Given the description of an element on the screen output the (x, y) to click on. 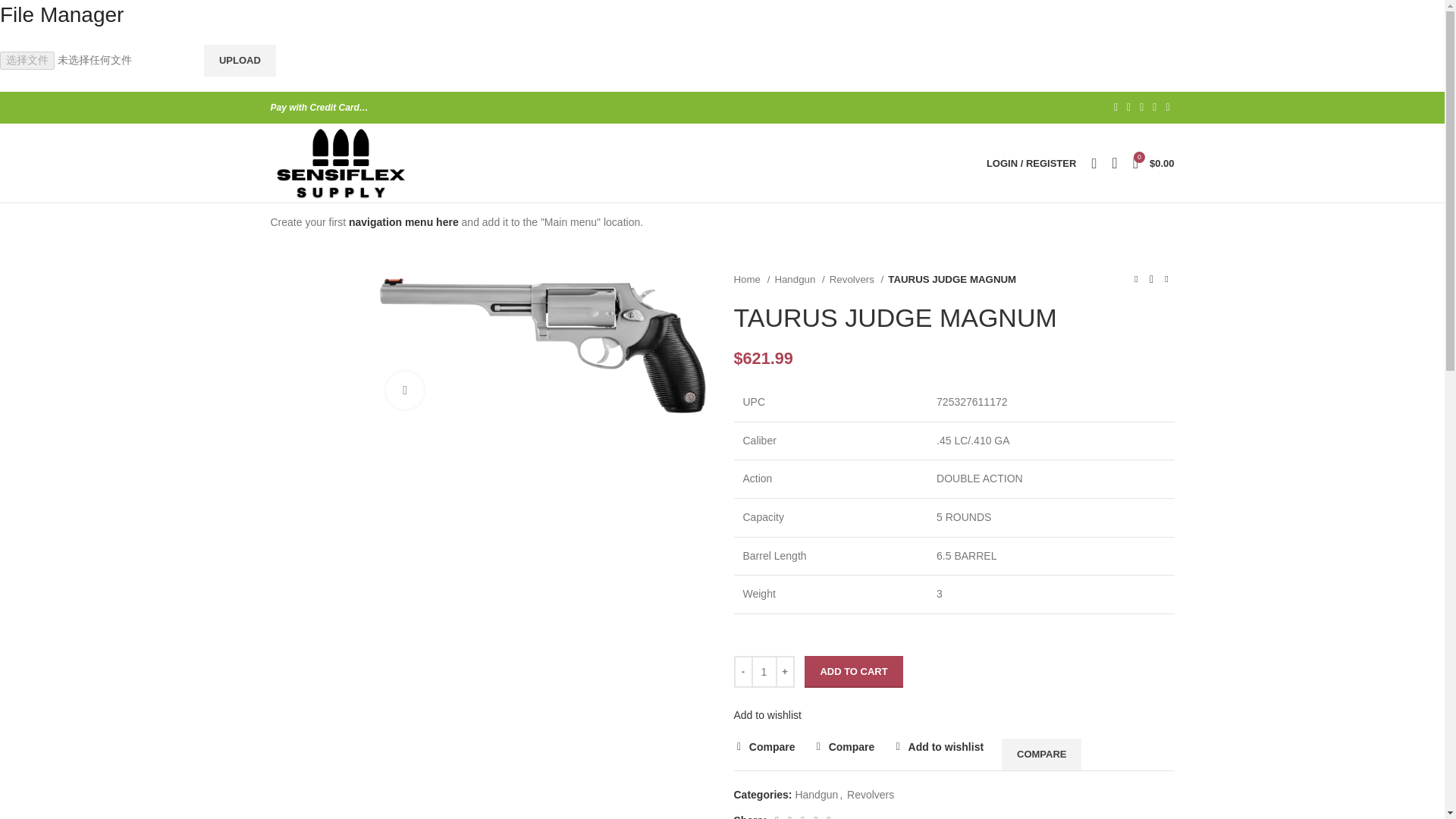
Log in (950, 401)
Revolvers (856, 279)
ADD TO CART (853, 671)
navigation menu here (403, 222)
Handgun (799, 279)
Home (751, 279)
Add to wishlist (767, 715)
My account (1030, 163)
Shopping cart (1153, 163)
UPLOAD (239, 60)
